Given the description of an element on the screen output the (x, y) to click on. 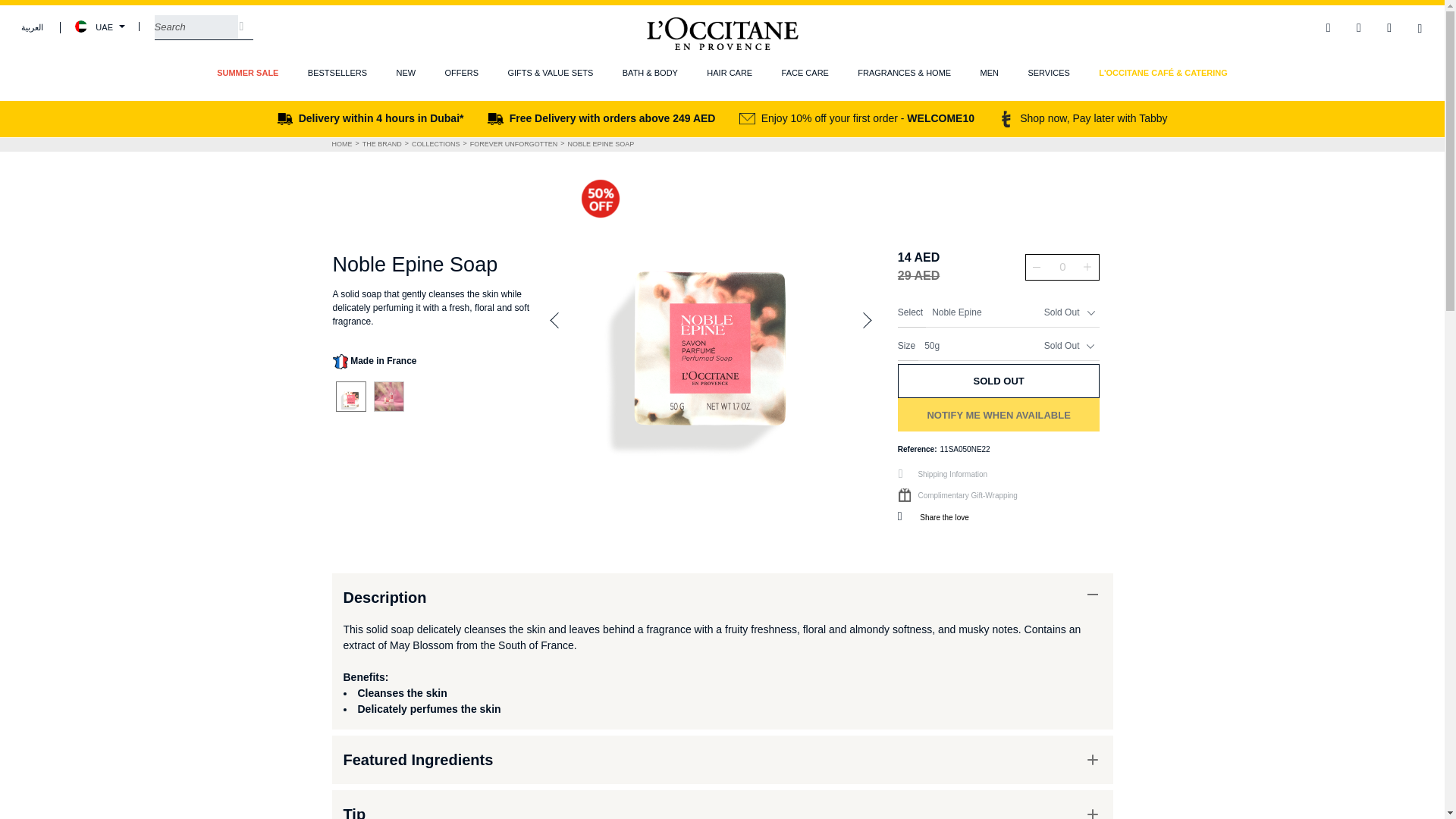
BESTSELLERS (337, 73)
NEW (405, 73)
SUMMER SALE (248, 73)
L'Occitane Home (722, 33)
OFFERS (461, 73)
0 (1061, 267)
